Given the description of an element on the screen output the (x, y) to click on. 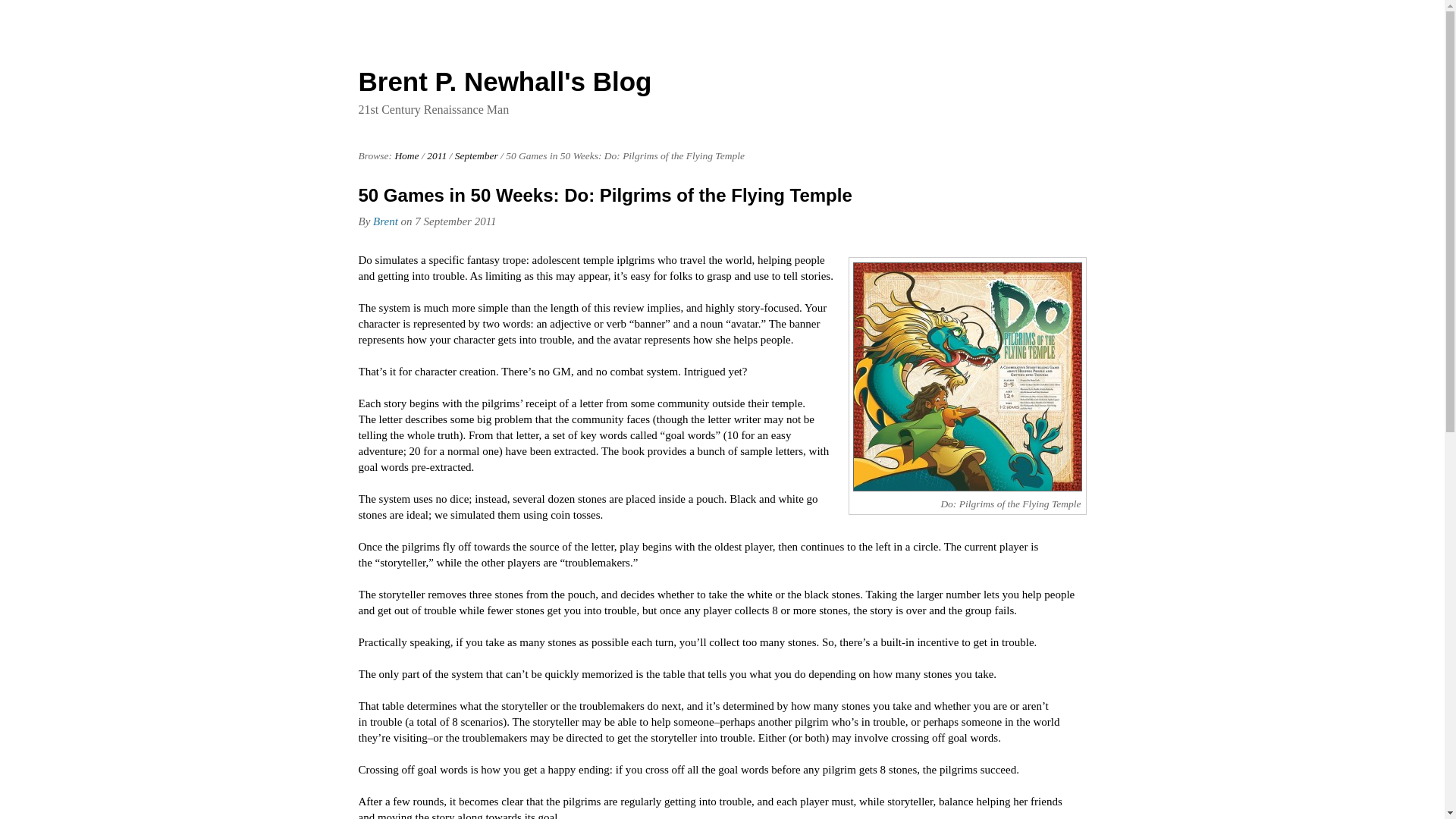
Brent P. Newhall's Blog (406, 155)
Brent P. Newhall's Blog (504, 81)
Brent P. Newhall's Blog (504, 81)
Brent (384, 221)
September (475, 155)
Home (406, 155)
Wednesday, September 7th, 2011, 10:41 am (455, 221)
2011 (436, 155)
September 2011 (475, 155)
50 Games in 50 Weeks: Do: Pilgrims of the Flying Temple (604, 195)
Brent (384, 221)
2011 (436, 155)
